Given the description of an element on the screen output the (x, y) to click on. 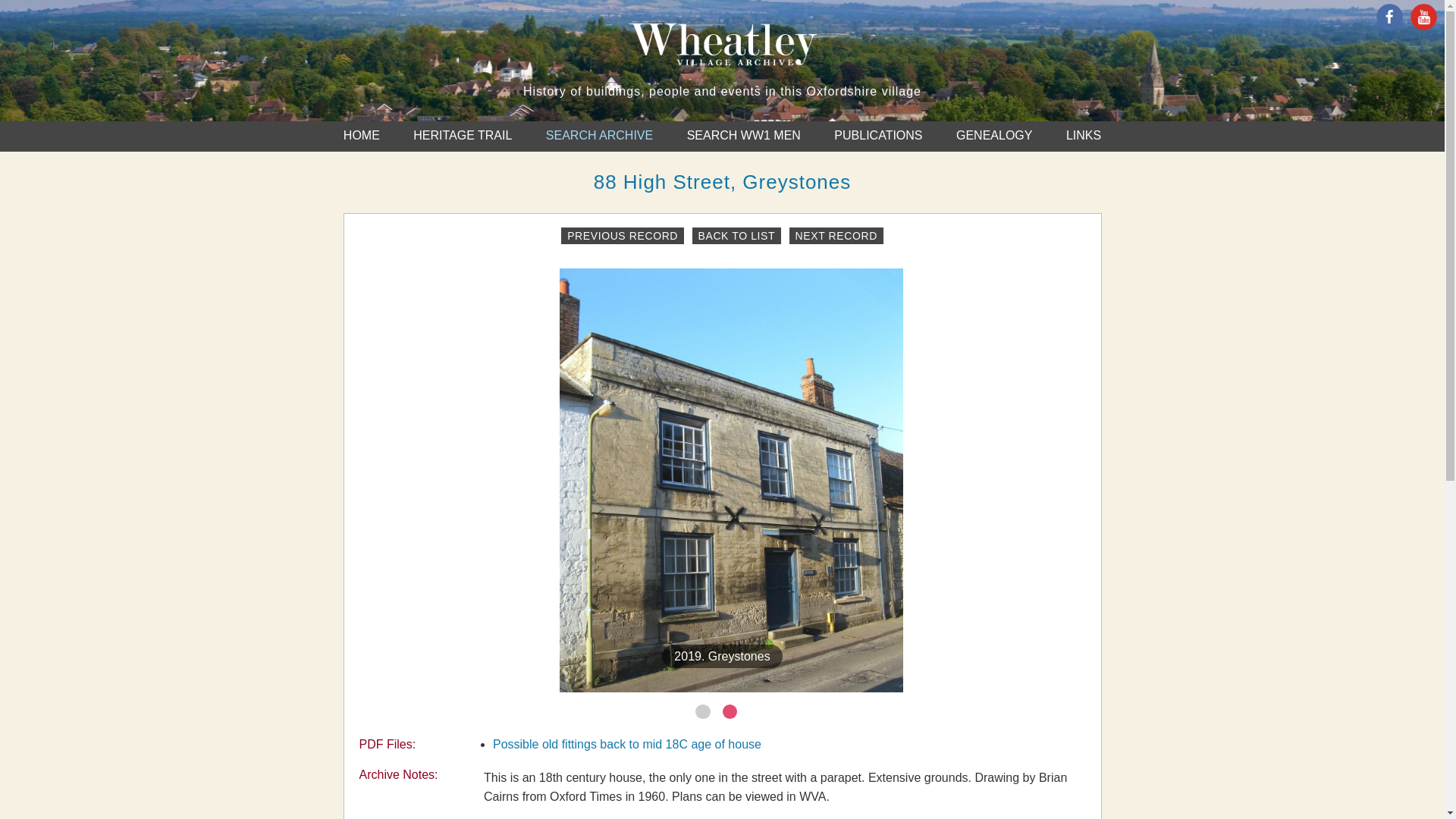
2 (729, 711)
LINKS (1082, 134)
PREVIOUS RECORD (622, 235)
PREVIOUS RECORD (622, 235)
NEXT RECORD (836, 235)
SEARCH WW1 MEN (743, 134)
youtube (1423, 25)
Possible old fittings back to mid 18C age of house (627, 744)
PUBLICATIONS (877, 134)
Possible old fittings back to mid 18C age of house (627, 744)
1 (702, 711)
SEARCH ARCHIVE (599, 134)
NEXT RECORD (836, 235)
HOME (361, 134)
HERITAGE TRAIL (462, 134)
